Given the description of an element on the screen output the (x, y) to click on. 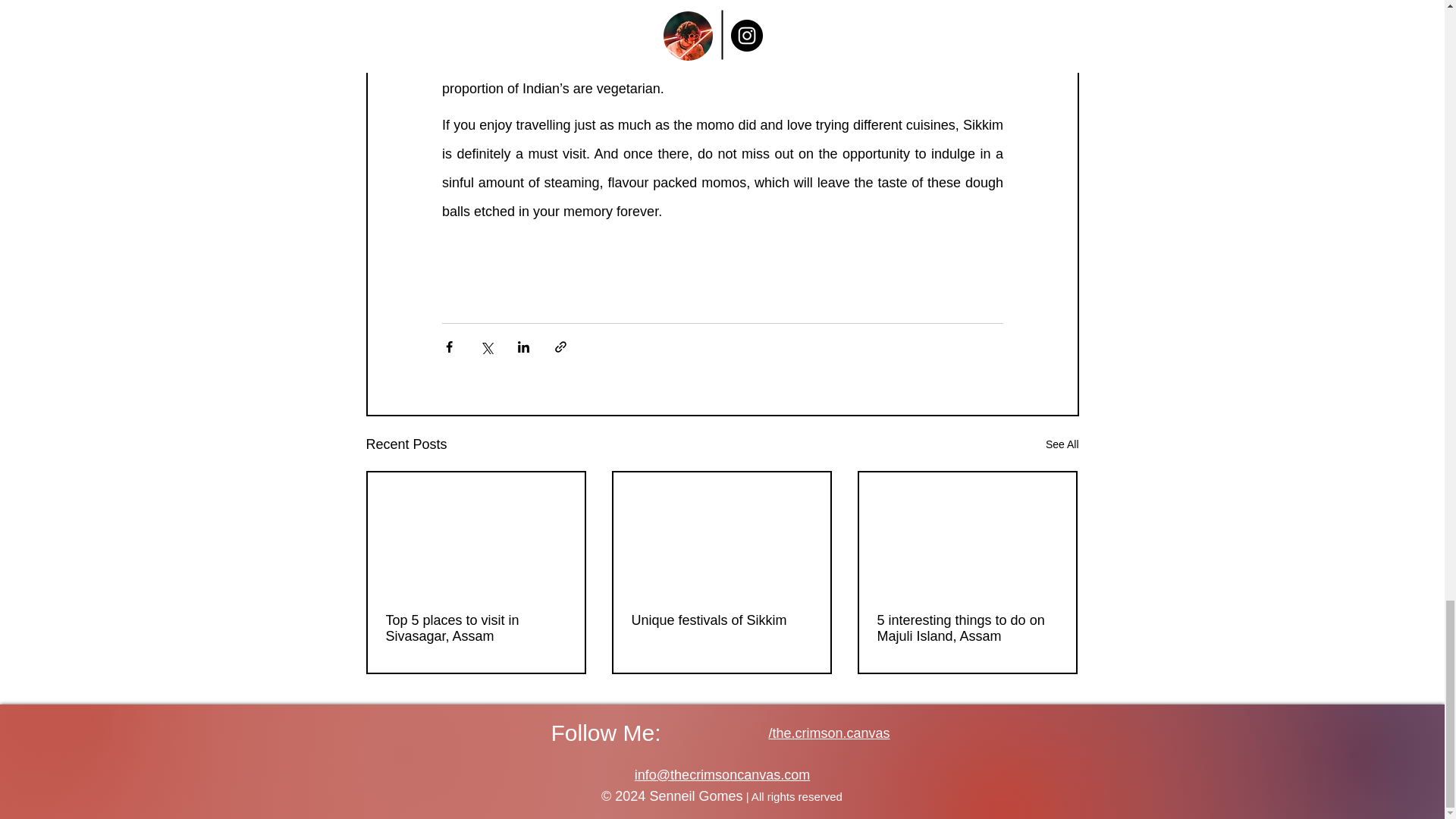
Top 5 places to visit in Sivasagar, Assam (475, 628)
Unique festivals of Sikkim (720, 620)
See All (1061, 444)
5 interesting things to do on Majuli Island, Assam (966, 628)
